Given the description of an element on the screen output the (x, y) to click on. 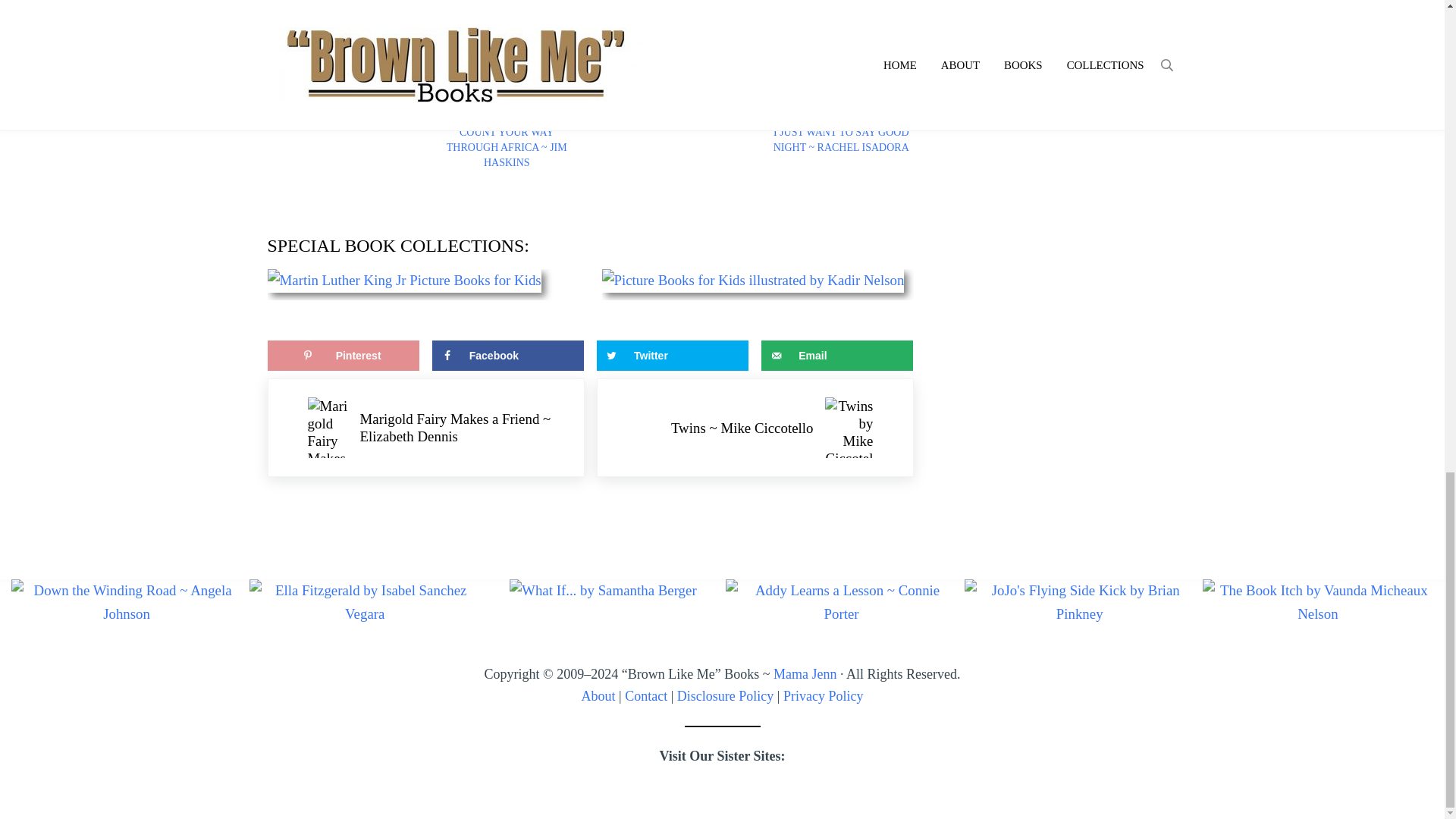
Share on Facebook (507, 355)
Save to Pinterest (342, 355)
Share on Twitter (672, 355)
Send over email (836, 355)
